Given the description of an element on the screen output the (x, y) to click on. 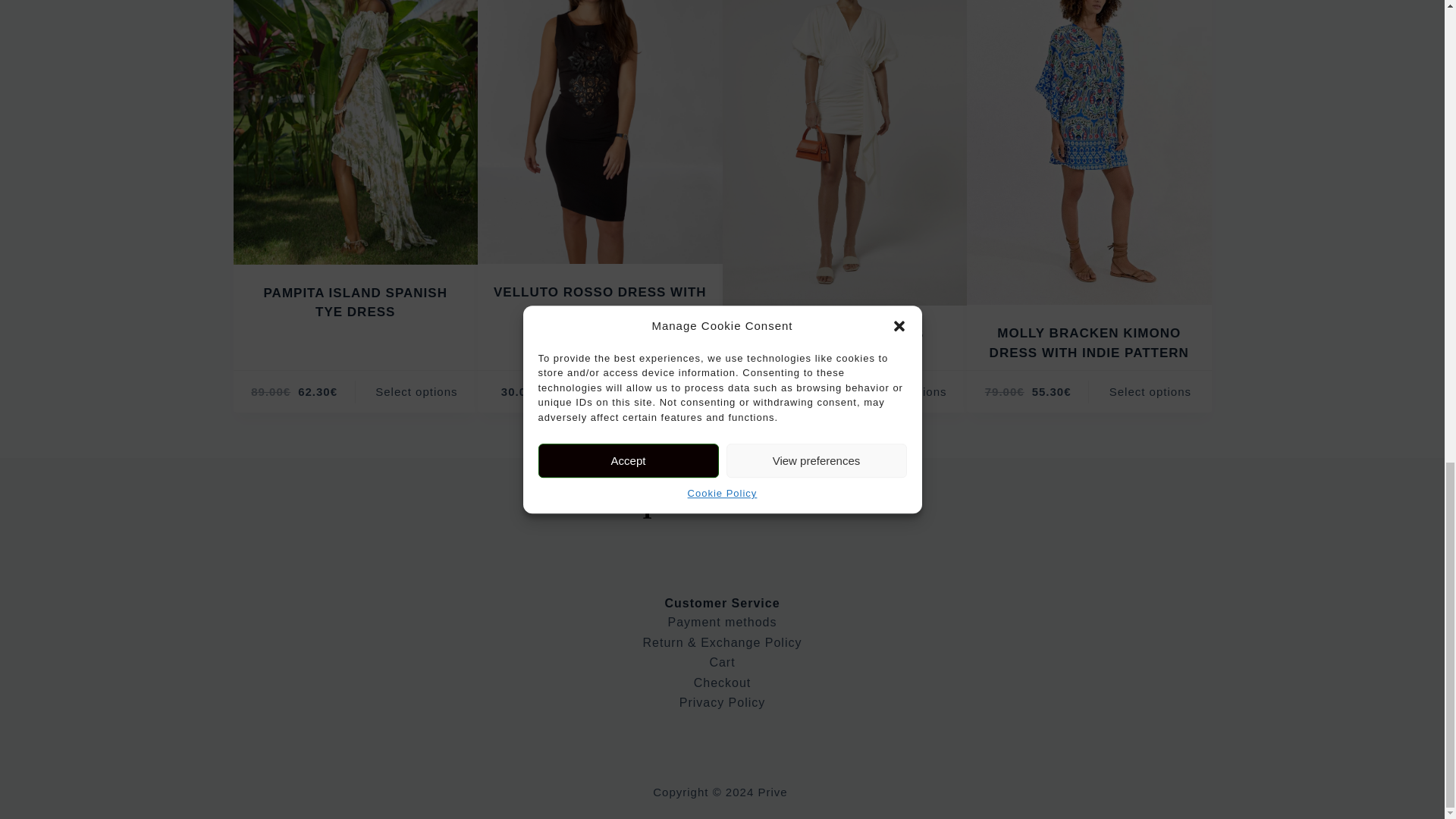
image00042-removebg-preview (599, 132)
